Given the description of an element on the screen output the (x, y) to click on. 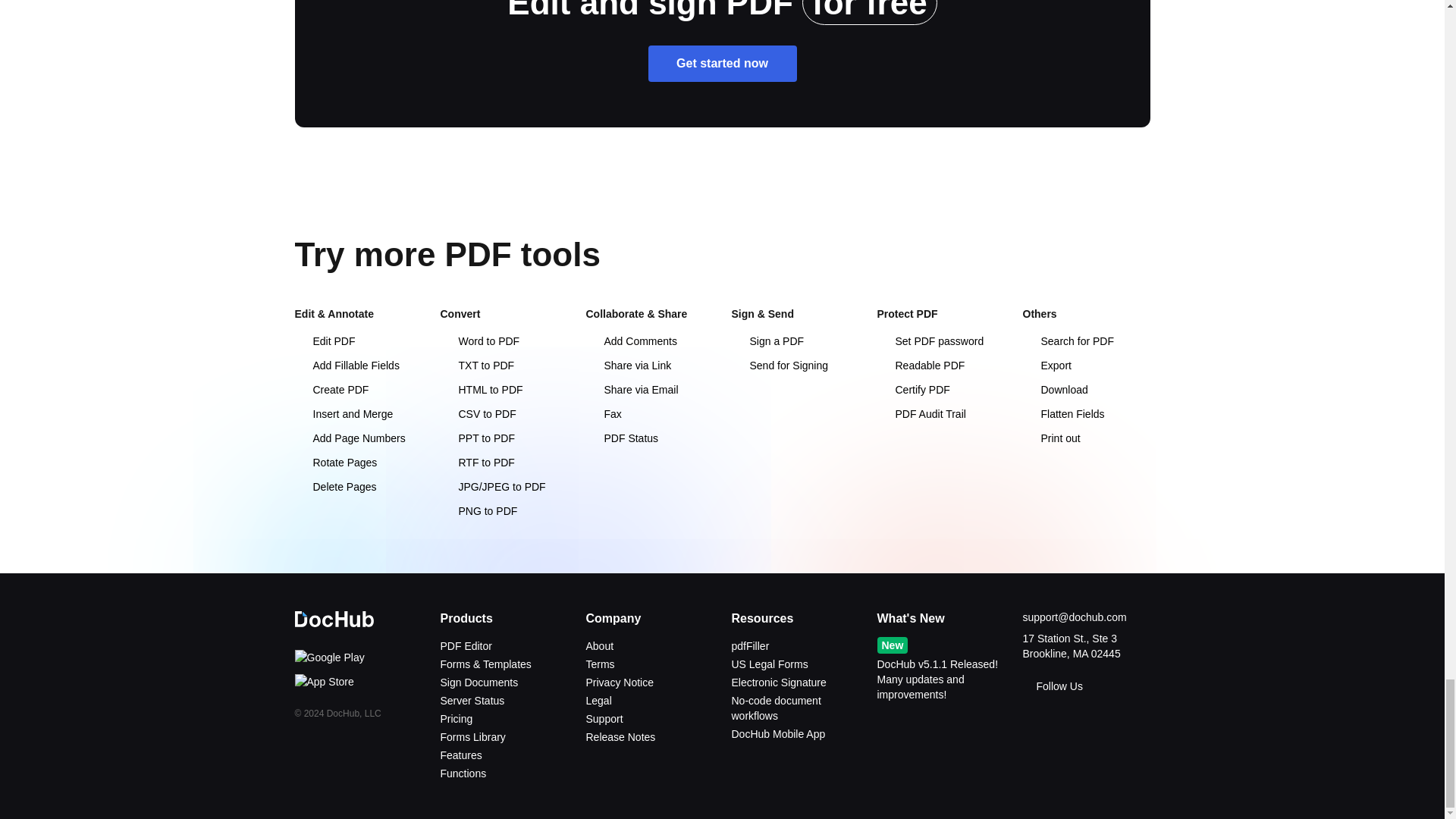
Word to PDF (479, 340)
Delete Pages (334, 486)
Rotate Pages (335, 462)
Create PDF (331, 389)
Add Page Numbers (349, 438)
Add Fillable Fields (346, 365)
Get started now (721, 63)
PDF Status (621, 438)
PNG to PDF (477, 510)
Edit PDF (324, 340)
Share via Email (631, 389)
HTML to PDF (480, 389)
TXT to PDF (476, 365)
Insert and Merge (343, 413)
Share via Link (628, 365)
